Given the description of an element on the screen output the (x, y) to click on. 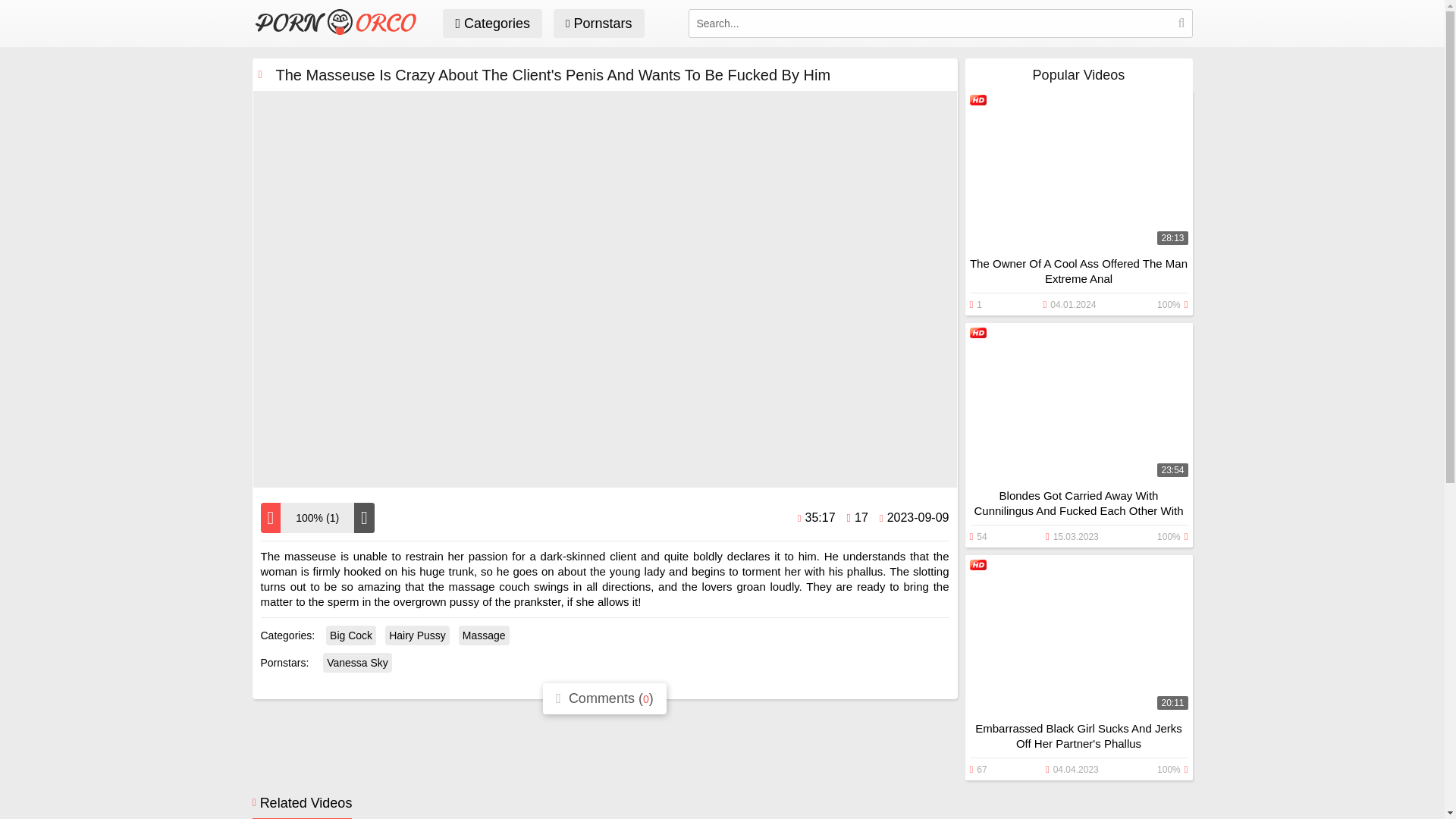
Pornorco (339, 30)
Big Cock (350, 635)
Pornstars (599, 23)
Hairy Pussy (417, 635)
Vanessa Sky (357, 662)
Vanessa Sky (357, 662)
Big Cock (350, 635)
Categories (491, 23)
